Given the description of an element on the screen output the (x, y) to click on. 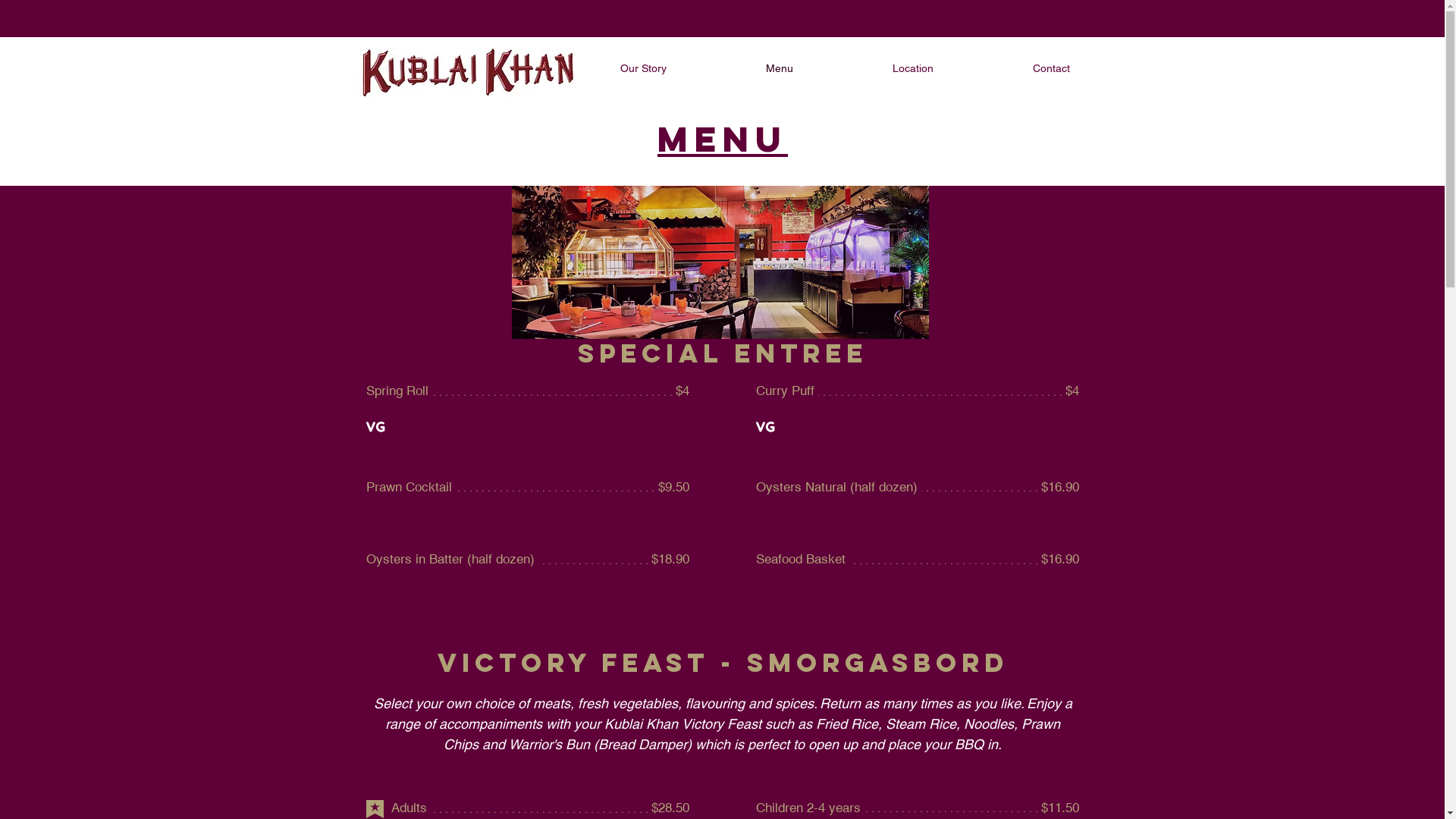
Location Element type: text (913, 67)
Menu Element type: text (778, 67)
Our Story Element type: text (643, 67)
Menu Element type: text (722, 138)
Contact Element type: text (1050, 67)
